Given the description of an element on the screen output the (x, y) to click on. 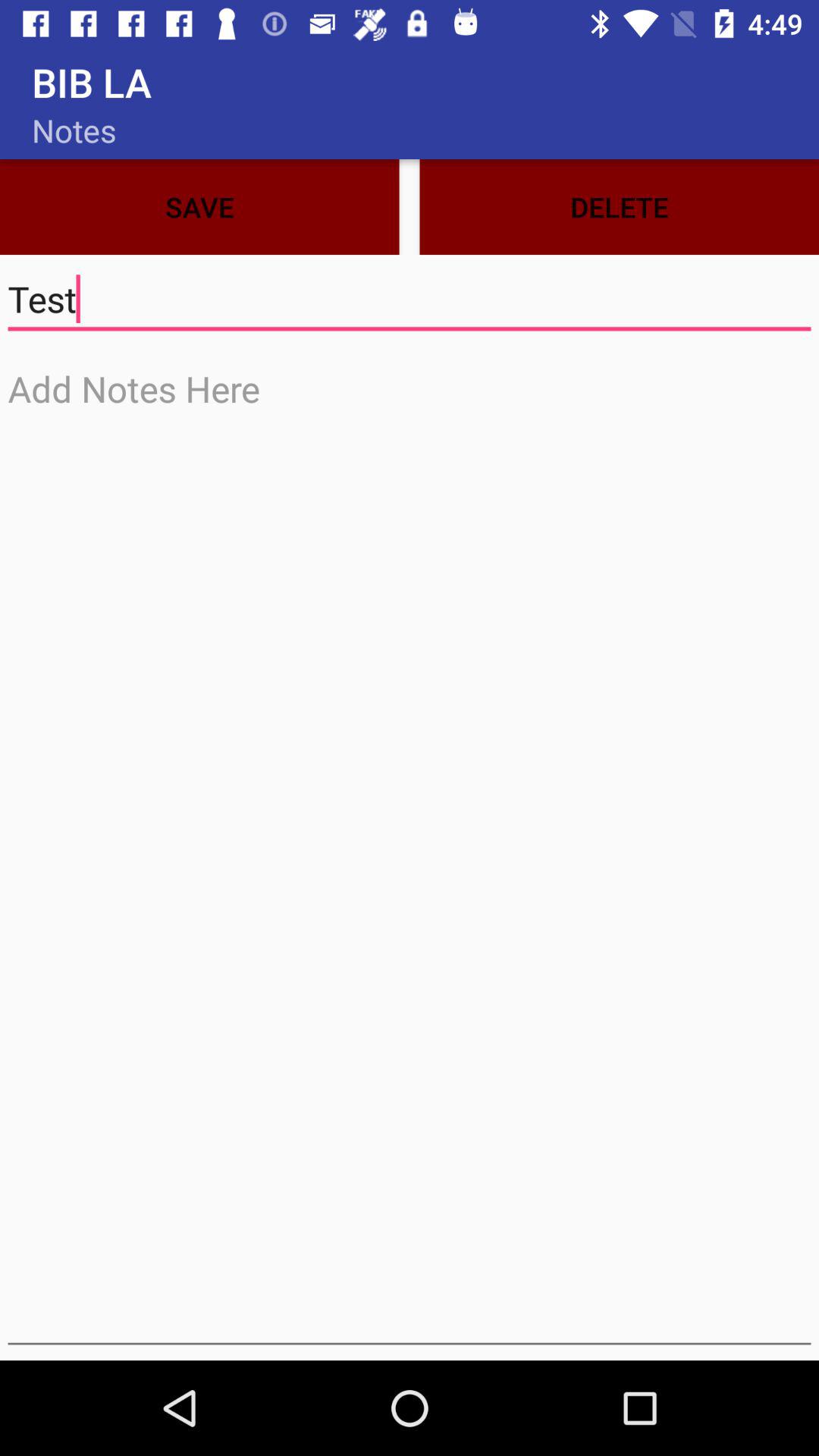
click test item (409, 299)
